Given the description of an element on the screen output the (x, y) to click on. 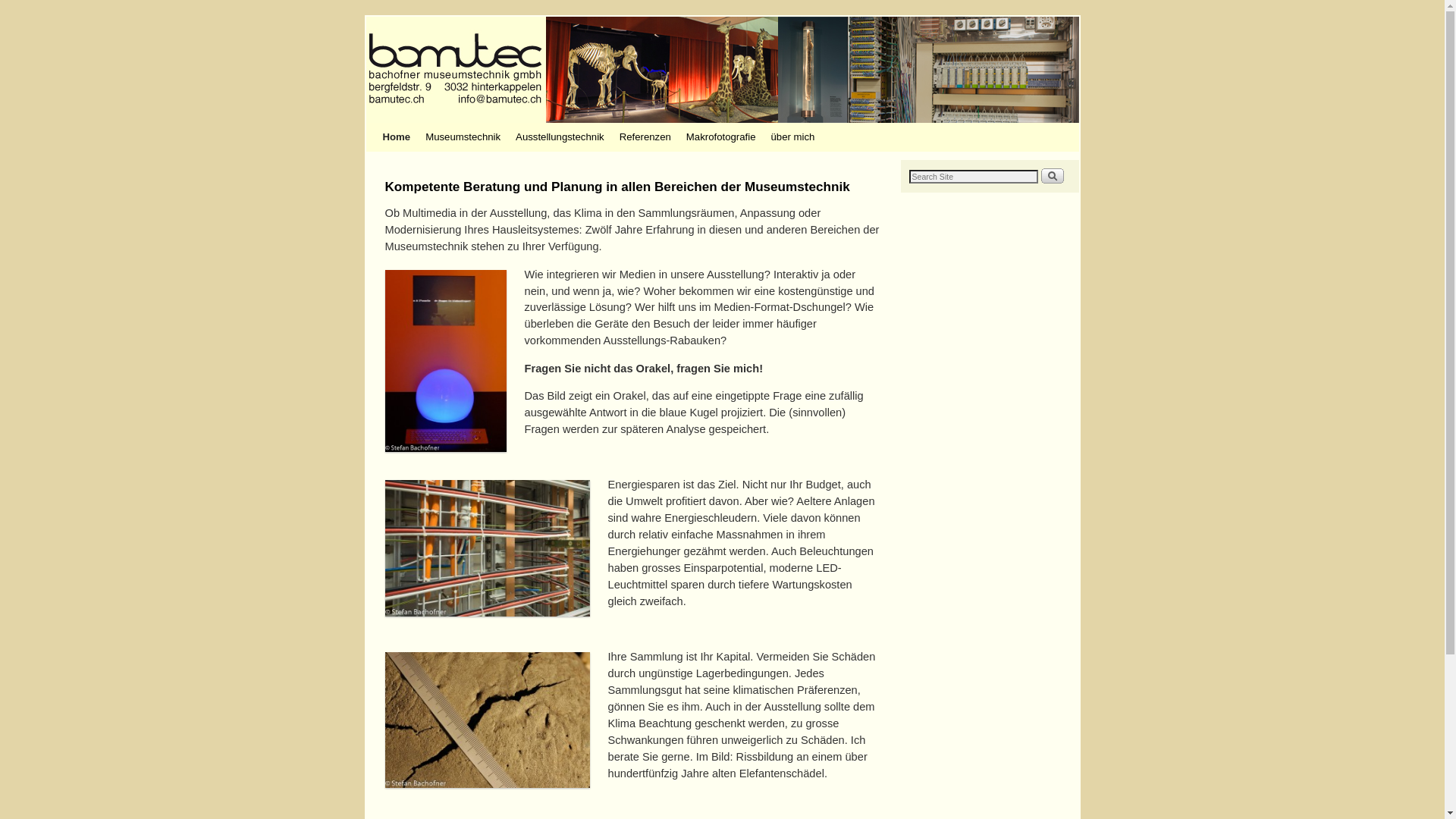
Makrofotografie Element type: text (720, 136)
Referenzen Element type: text (644, 136)
Zum Inhalt wechseln Element type: text (403, 128)
Home Element type: text (395, 136)
Museumstechnik Element type: text (462, 136)
Ausstellungstechnik Element type: text (559, 136)
Orakel Element type: hover (445, 360)
